Given the description of an element on the screen output the (x, y) to click on. 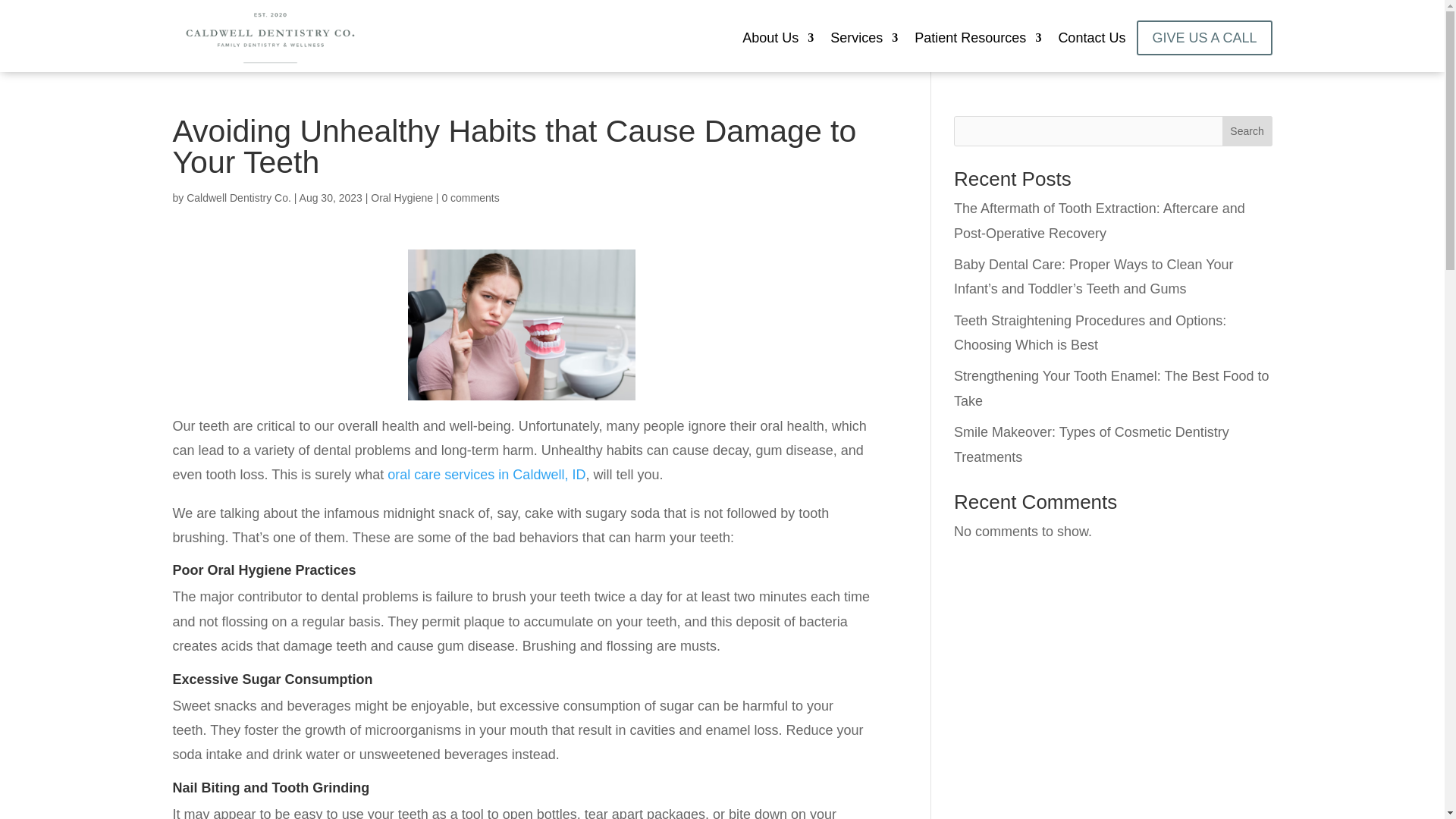
Services (863, 40)
0 comments (470, 197)
Contact Us (1091, 40)
Posts by Caldwell Dentistry Co. (238, 197)
caldwell dentistry logo (270, 38)
GIVE US A CALL (1204, 37)
Patient Resources (977, 40)
About Us (777, 40)
Caldwell Dentistry Co. (238, 197)
Oral Hygiene (401, 197)
oral care services in Caldwell, ID (486, 474)
Search (1247, 131)
